Given the description of an element on the screen output the (x, y) to click on. 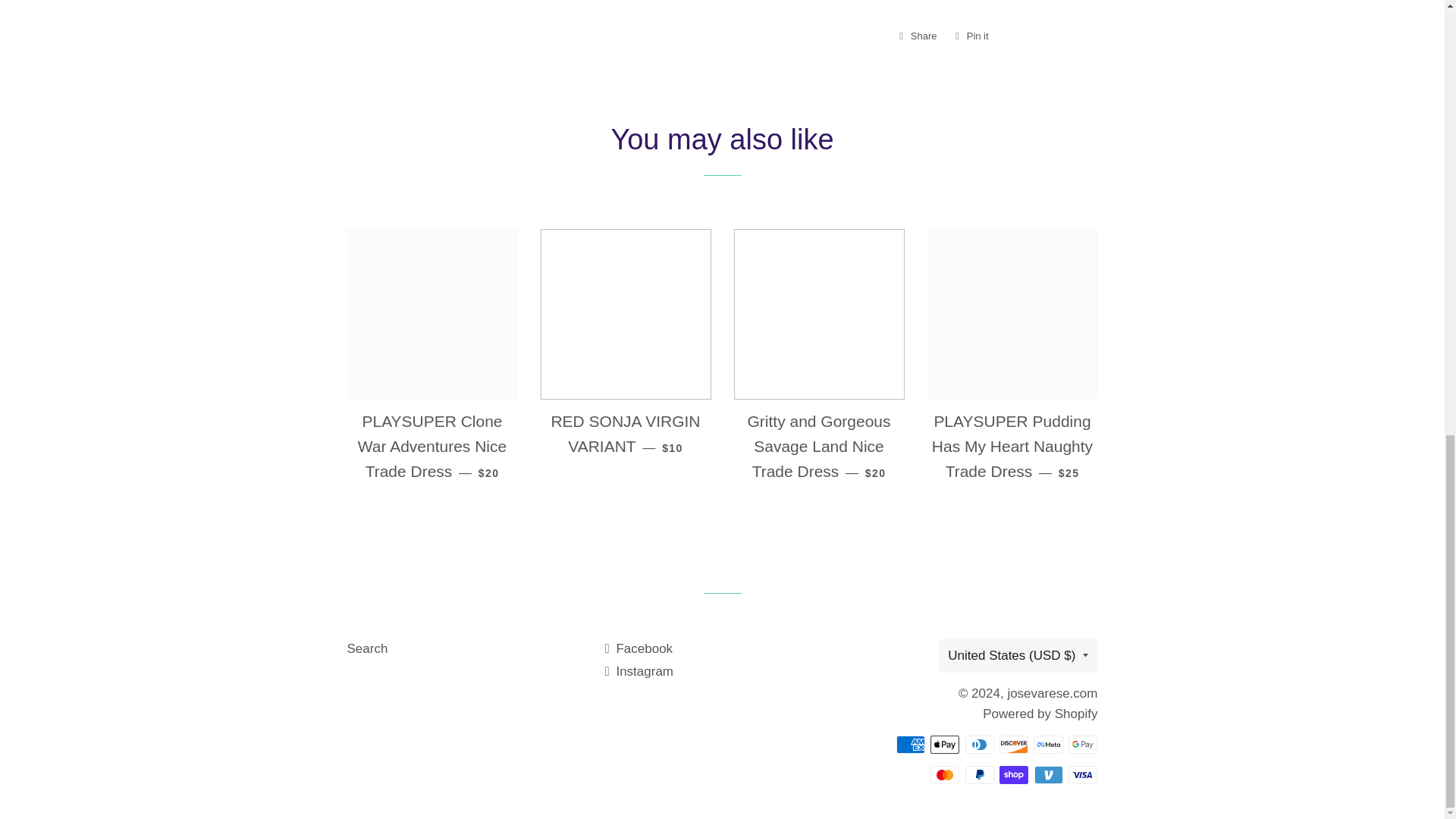
Mastercard (944, 774)
Meta Pay (1047, 744)
Search (367, 648)
Share on Facebook (917, 36)
Shop Pay (917, 36)
josevarese.com on Instagram (1012, 774)
Instagram (638, 671)
PayPal (638, 671)
Venmo (979, 774)
